Given the description of an element on the screen output the (x, y) to click on. 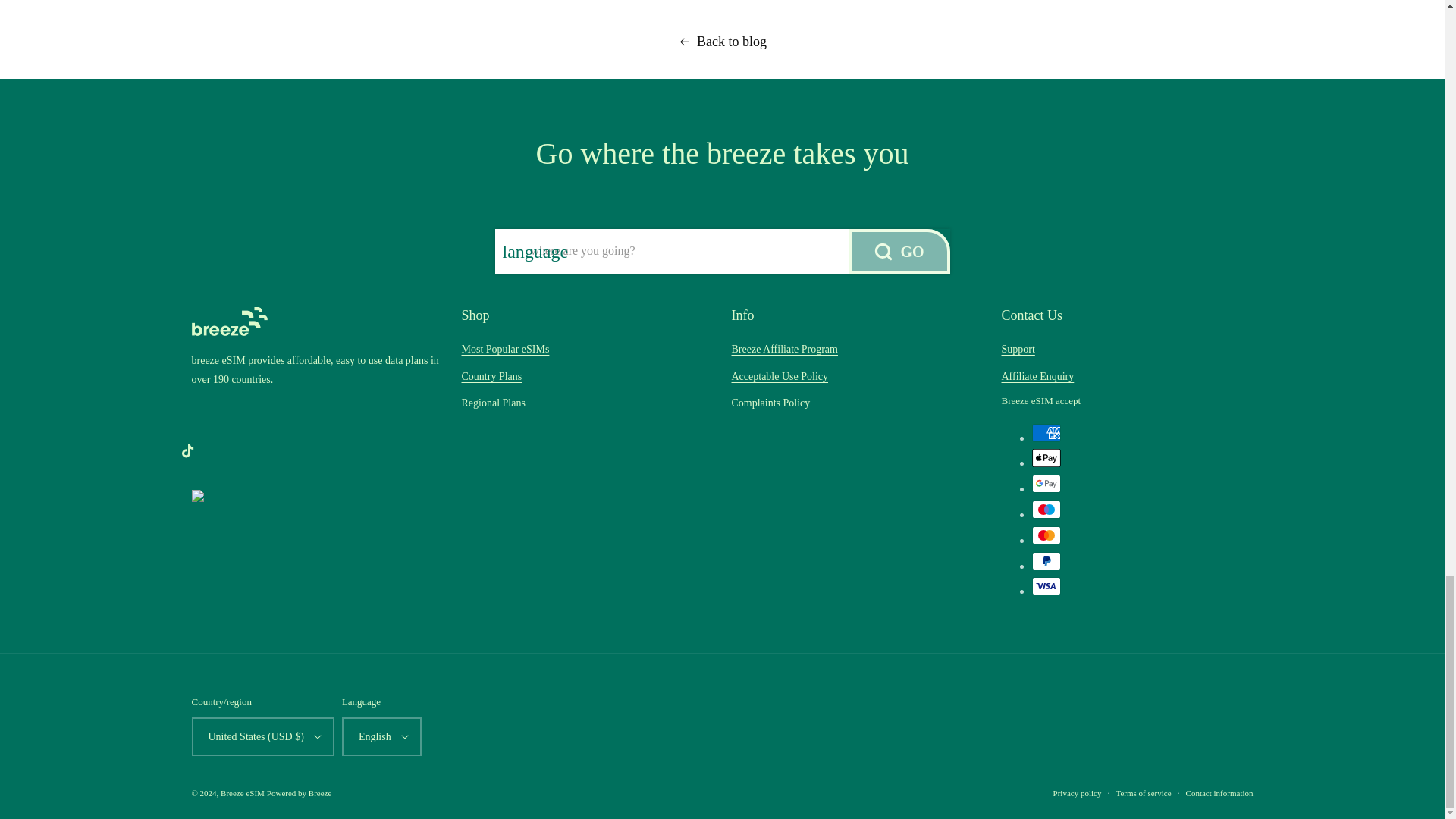
Google Pay (1044, 484)
Maestro (1044, 509)
Visa (1044, 586)
American Express (1044, 433)
Mastercard (1044, 535)
PayPal (1044, 561)
Apple Pay (1044, 457)
